Given the description of an element on the screen output the (x, y) to click on. 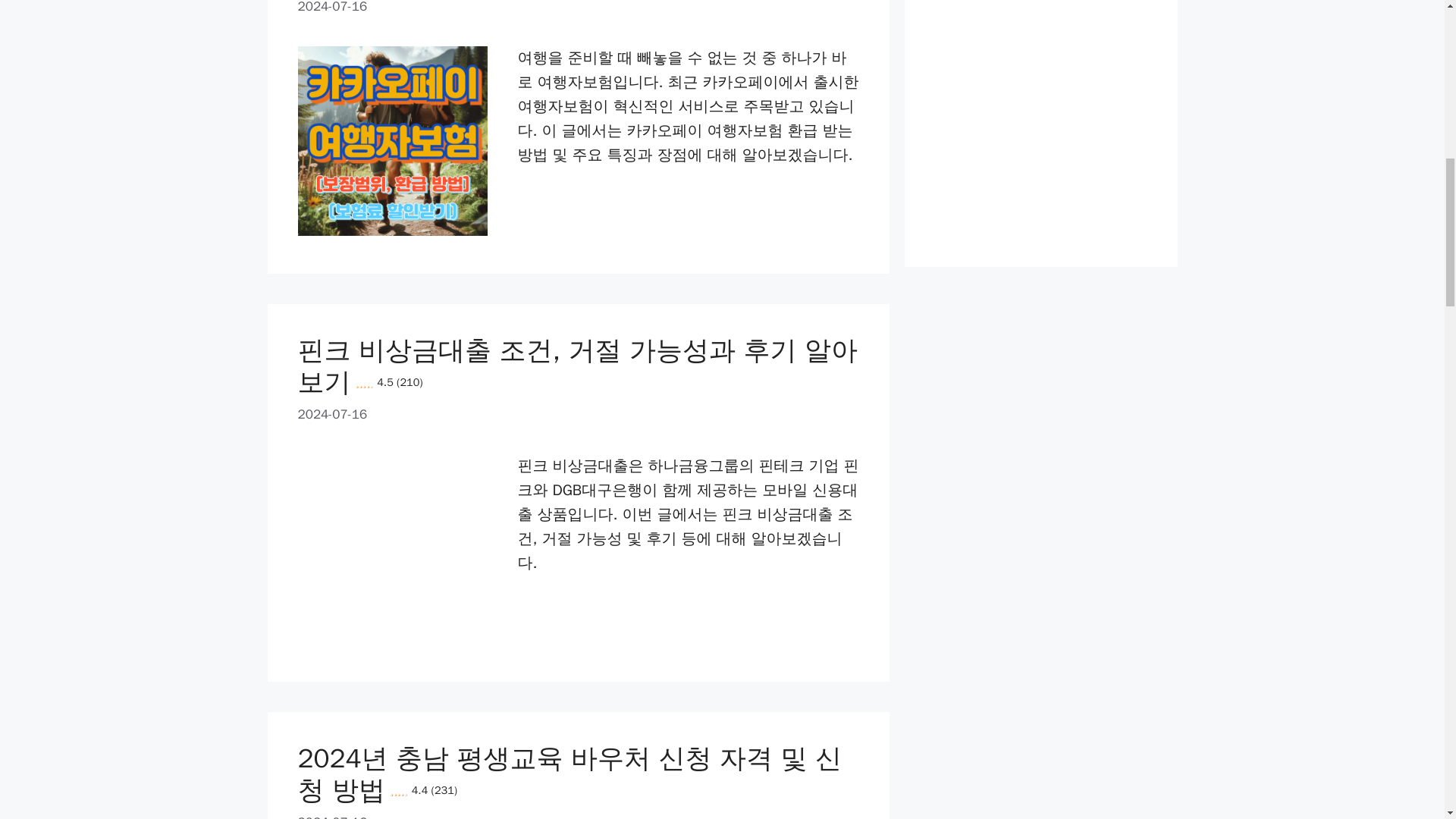
Advertisement (1040, 111)
Scroll back to top (1406, 720)
